Given the description of an element on the screen output the (x, y) to click on. 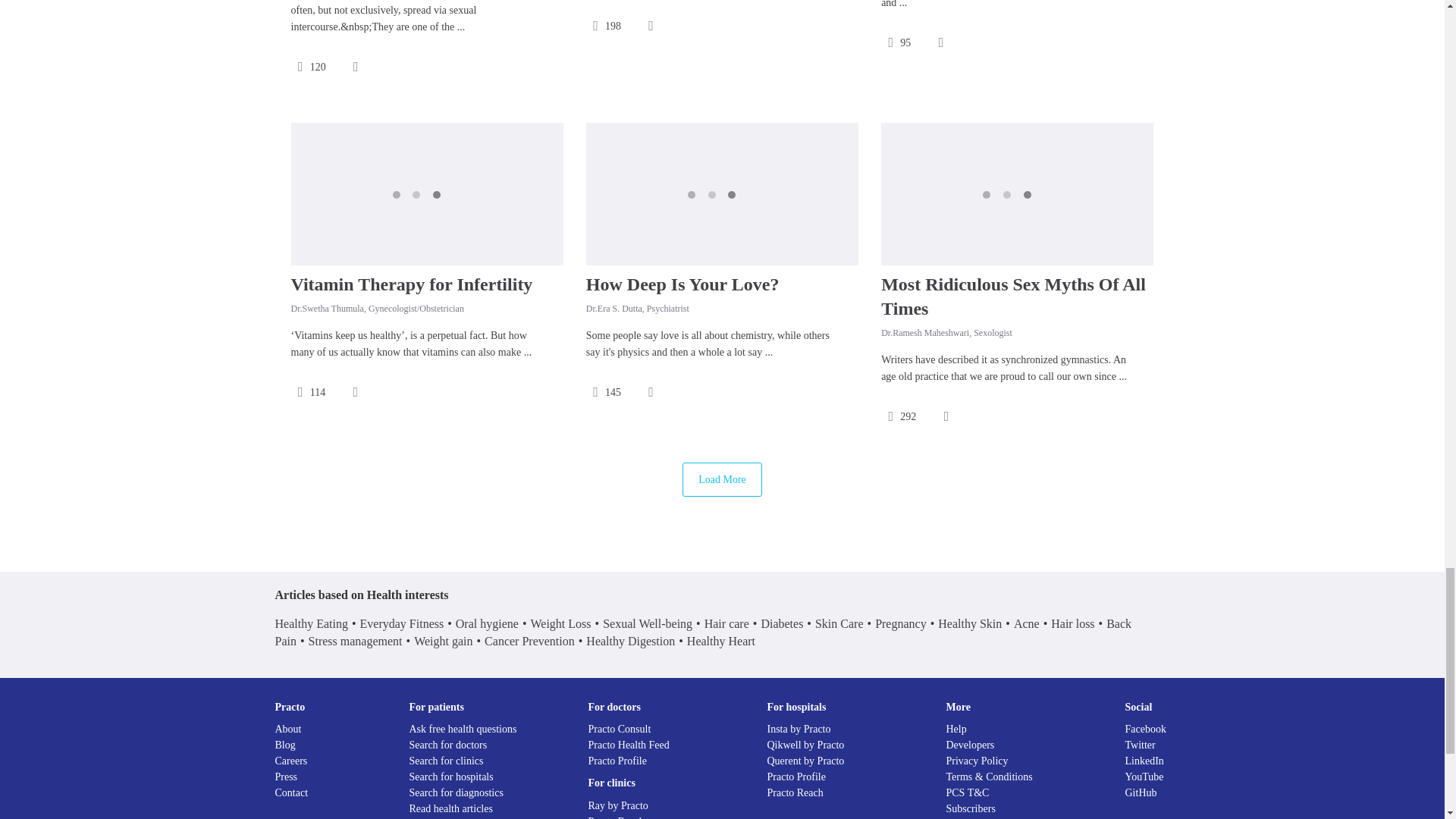
Search for clinics (446, 760)
Search for hospitals (451, 776)
About (288, 728)
Blog (285, 745)
Careers (291, 760)
Press (286, 776)
Read Health Articles (451, 808)
Ask free health questions (462, 728)
Contact (291, 792)
Search for doctors (448, 745)
Search for diagnostics (456, 792)
